Given the description of an element on the screen output the (x, y) to click on. 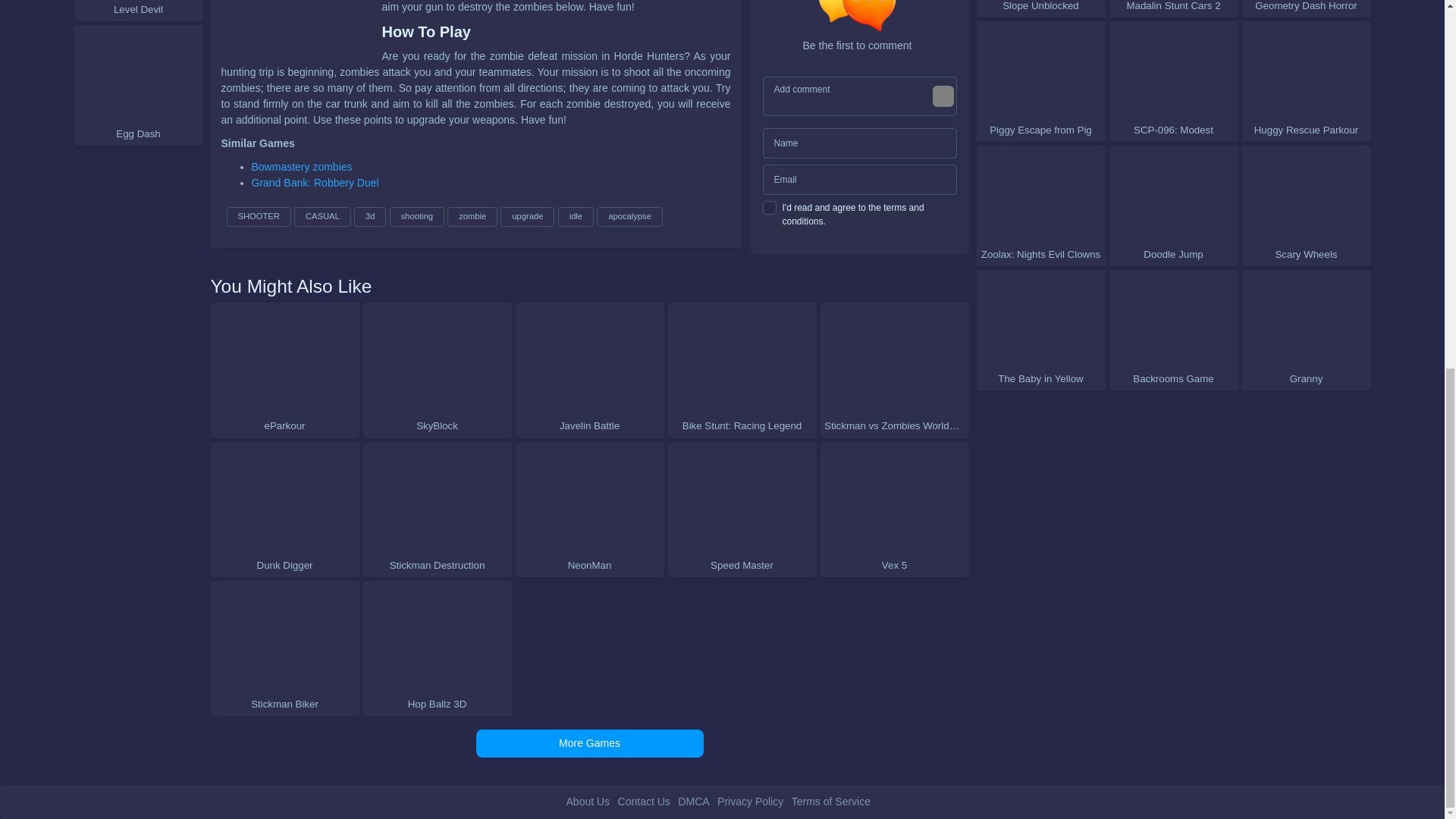
Be the first to comment (862, 27)
